Given the description of an element on the screen output the (x, y) to click on. 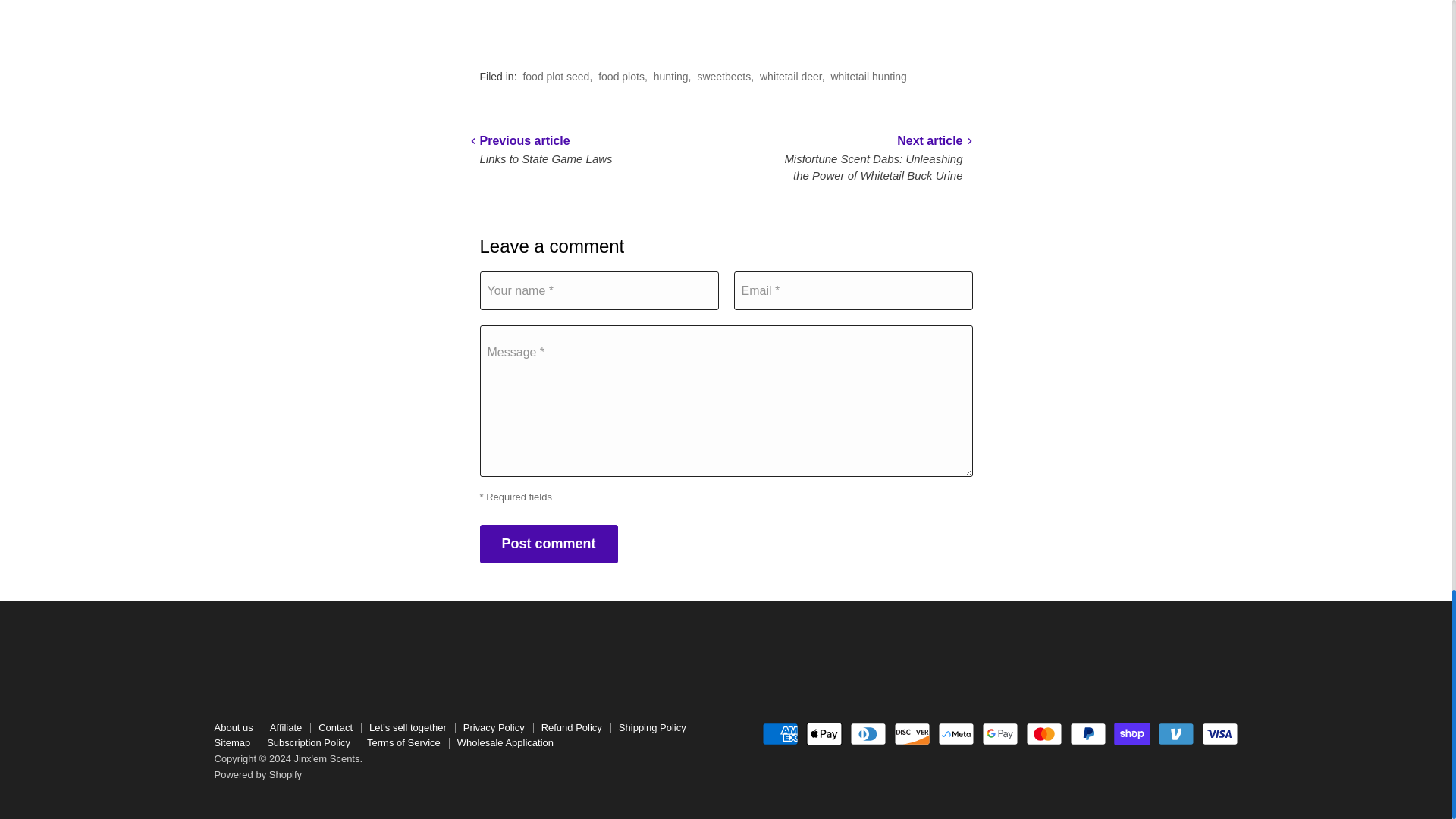
Show articles tagged whitetail hunting (869, 76)
Show articles tagged sweetbeets (724, 76)
Show articles tagged whitetail deer (791, 76)
Show articles tagged food plots (621, 76)
Show articles tagged hunting (670, 76)
Show articles tagged food plot seed (555, 76)
